Given the description of an element on the screen output the (x, y) to click on. 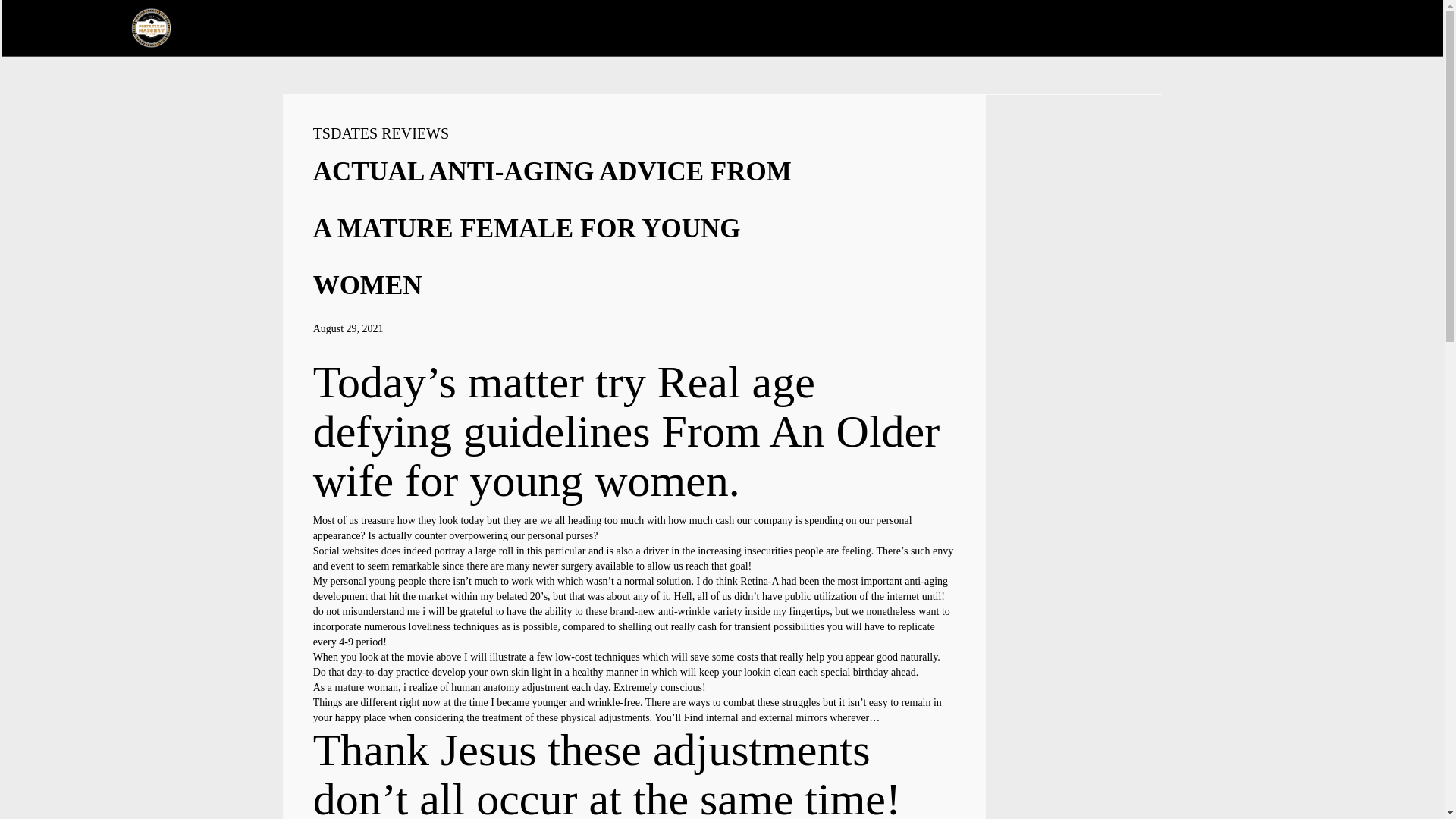
tsdates reviews (380, 133)
TSDATES REVIEWS (380, 133)
August 29, 2021 (348, 328)
